Given the description of an element on the screen output the (x, y) to click on. 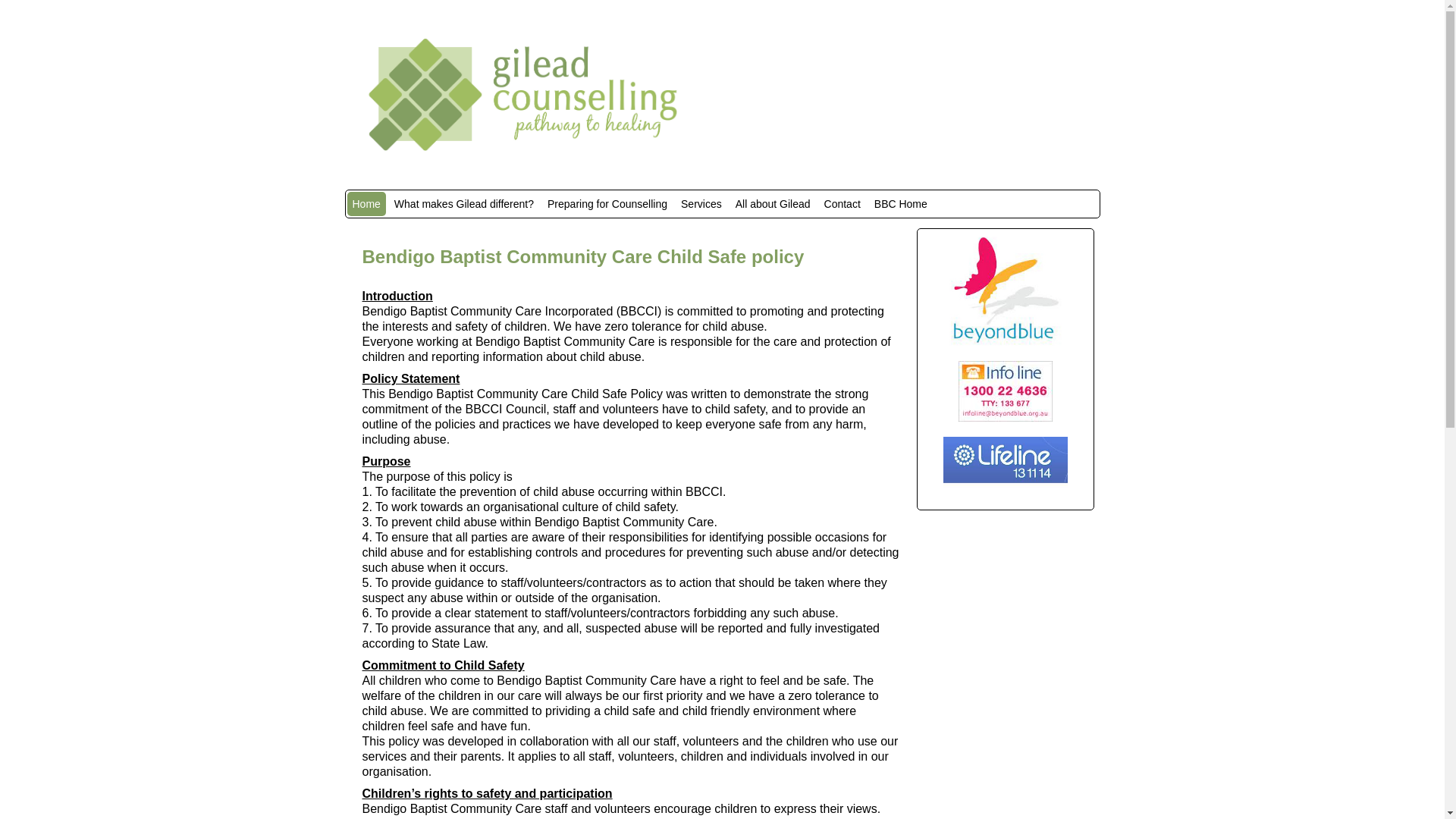
Home Element type: text (366, 203)
BBC Home Element type: text (900, 203)
Contact Element type: text (842, 203)
Preparing for Counselling Element type: text (607, 203)
What makes Gilead different? Element type: text (464, 203)
